Given the description of an element on the screen output the (x, y) to click on. 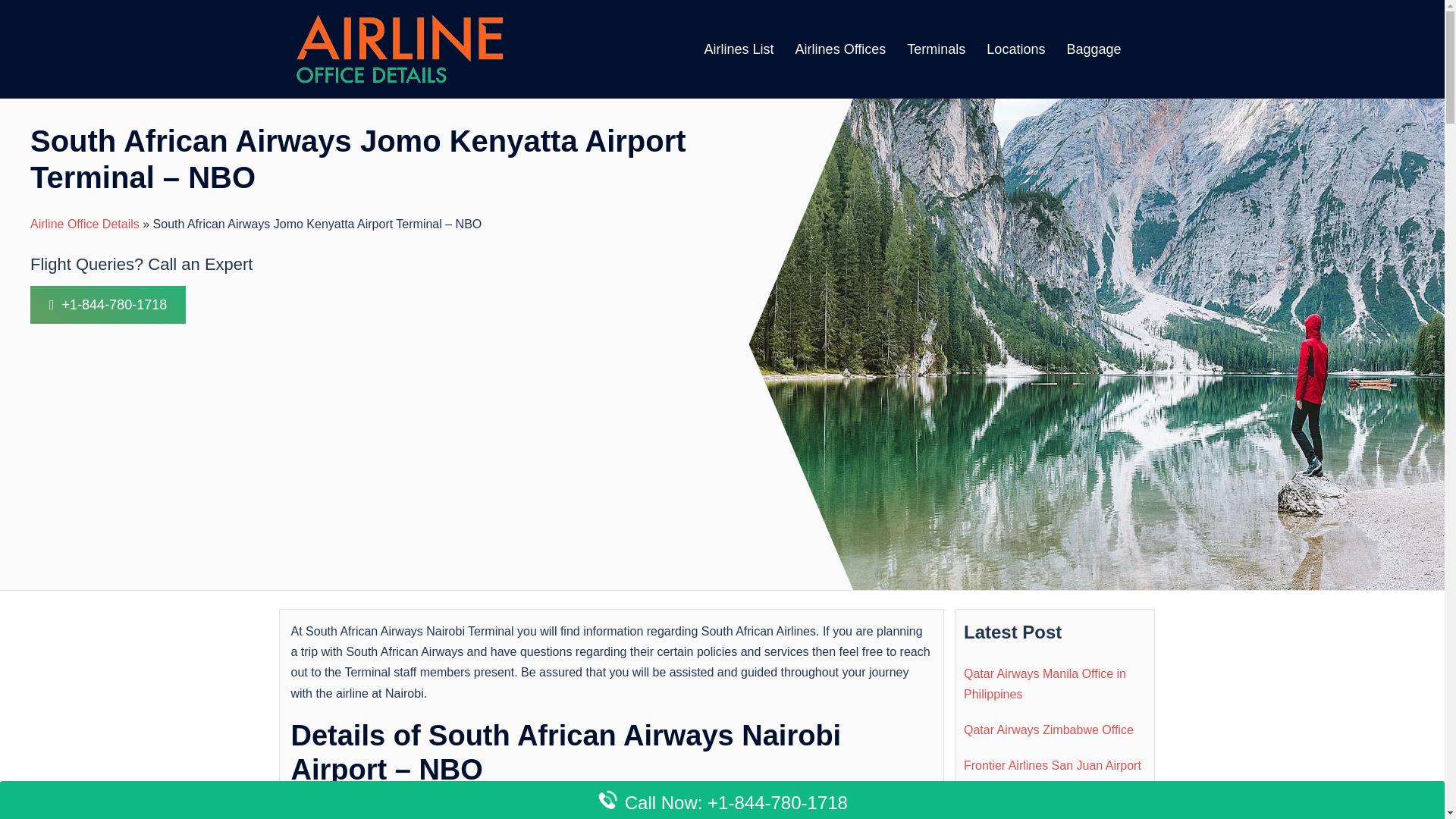
Terminals (936, 49)
Baggage (1093, 49)
Locations (1016, 49)
Airlines List (739, 49)
airlineofficedetails.com (397, 47)
Airline Office Details (84, 223)
Airlines Offices (840, 49)
